Given the description of an element on the screen output the (x, y) to click on. 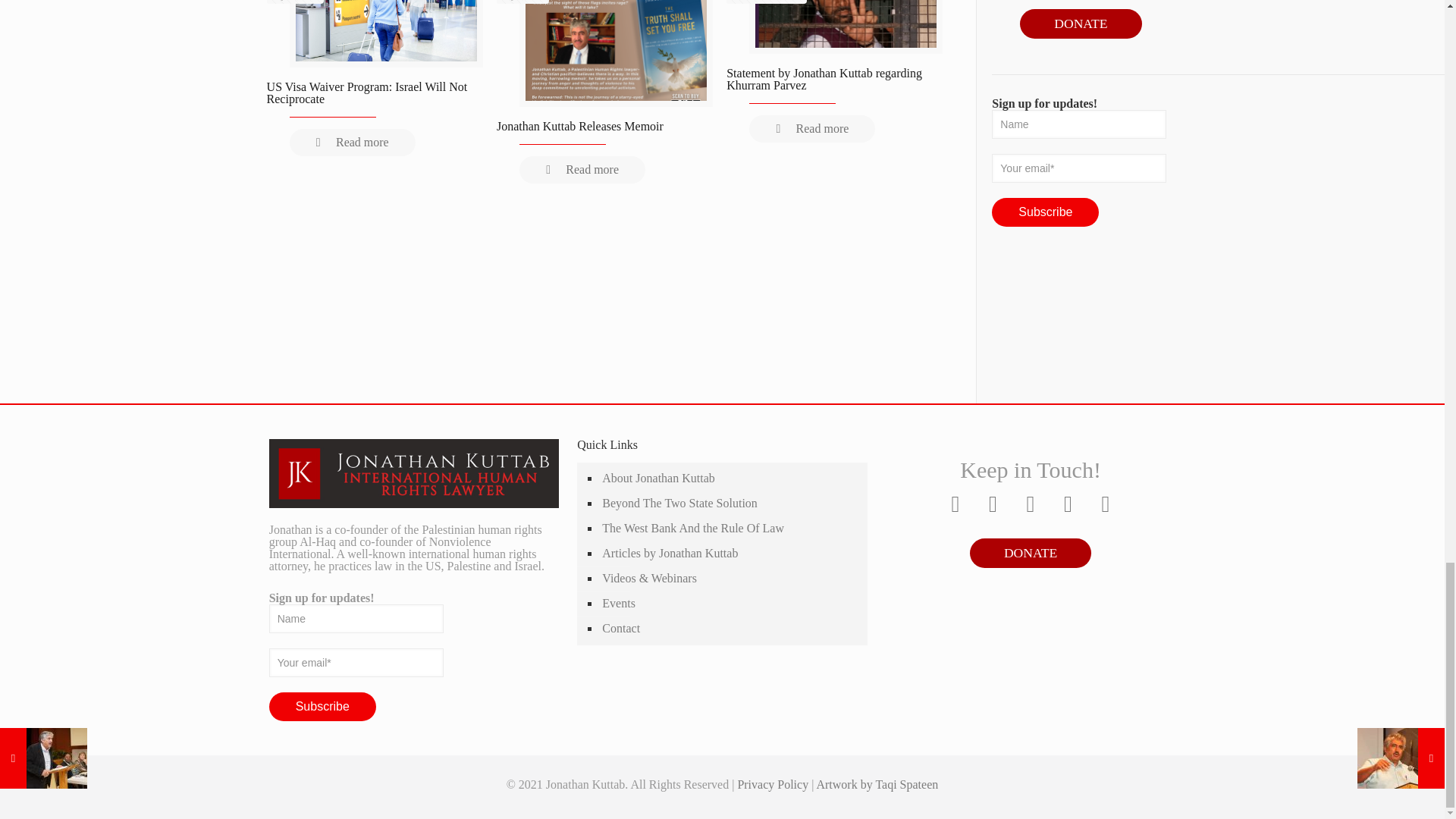
Subscribe (322, 706)
Subscribe (1045, 212)
